Given the description of an element on the screen output the (x, y) to click on. 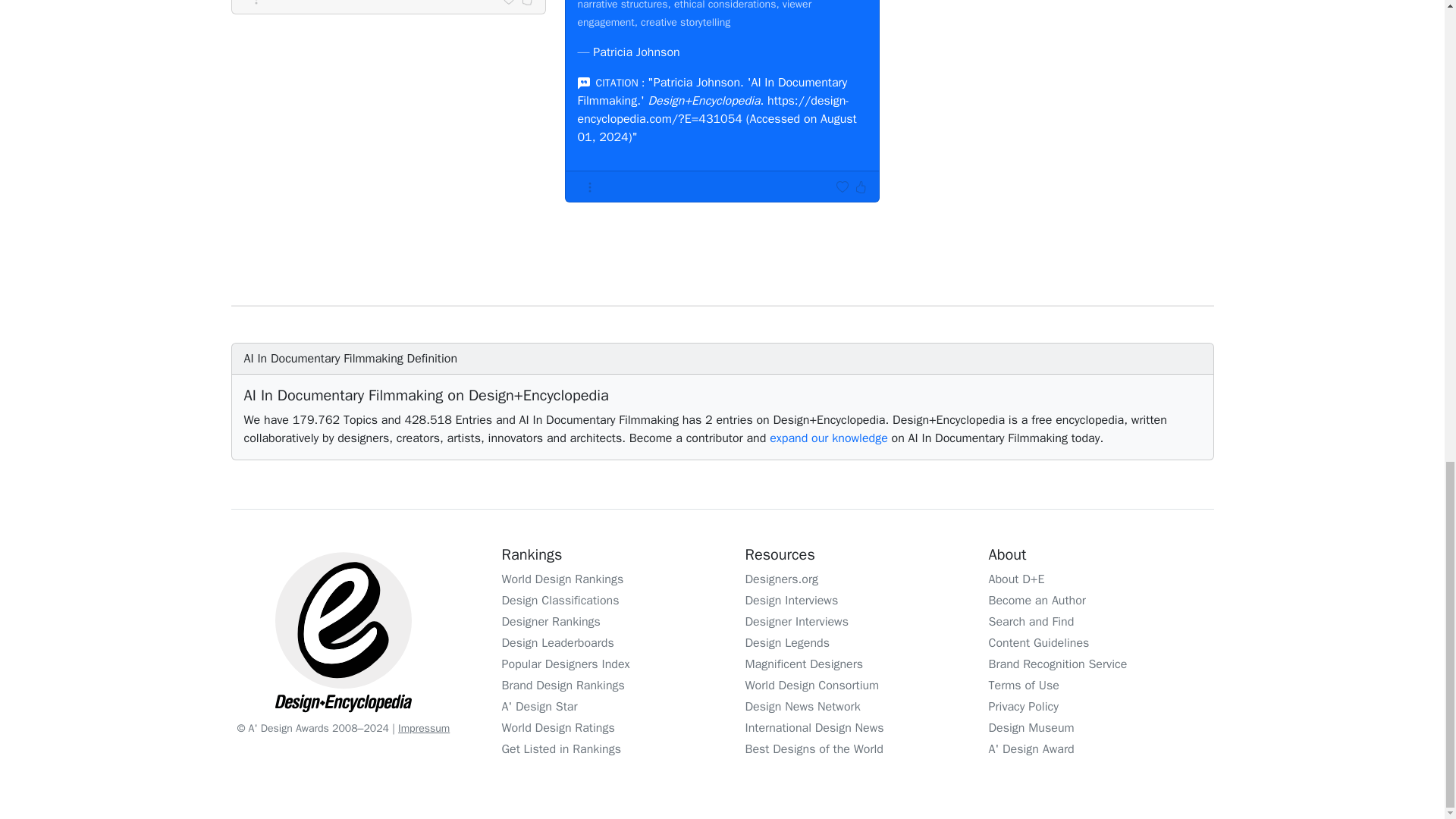
Privacy Policy (1023, 706)
World Design Ratings (558, 727)
Design Leaderboards (558, 642)
Patricia Johnson (635, 52)
Become an Author (1037, 600)
Magnificent Designers (803, 663)
expand our knowledge (829, 437)
Popular Designers Index (566, 663)
Design News Network (802, 706)
Content Guidelines (1038, 642)
Best Designs of the World (813, 749)
World Design Rankings (563, 579)
Search and Find (1031, 621)
Terms of Use (1023, 685)
Impressum (423, 727)
